Given the description of an element on the screen output the (x, y) to click on. 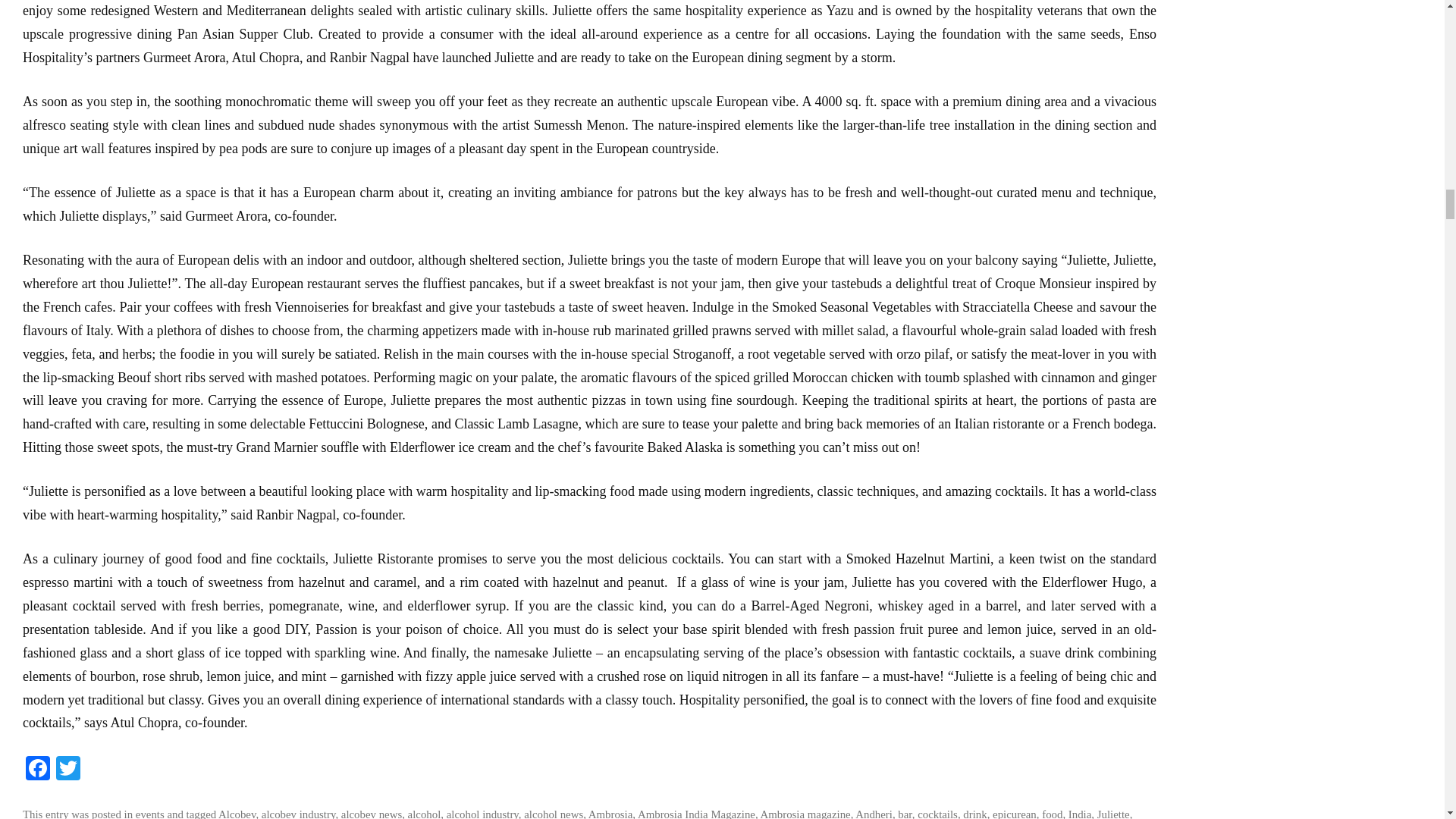
Twitter (67, 769)
Facebook (37, 769)
